Given the description of an element on the screen output the (x, y) to click on. 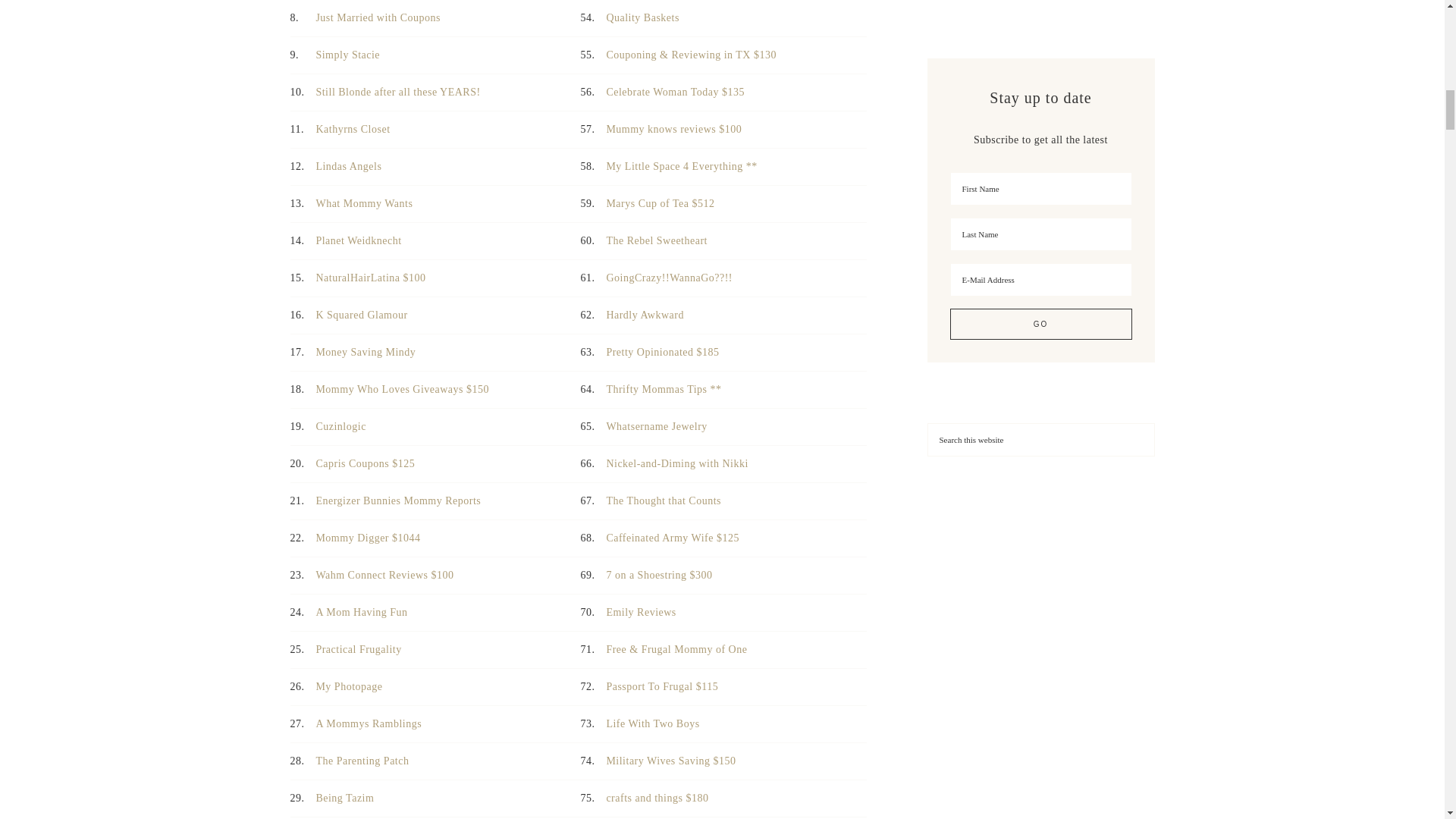
Go (1040, 323)
